Given the description of an element on the screen output the (x, y) to click on. 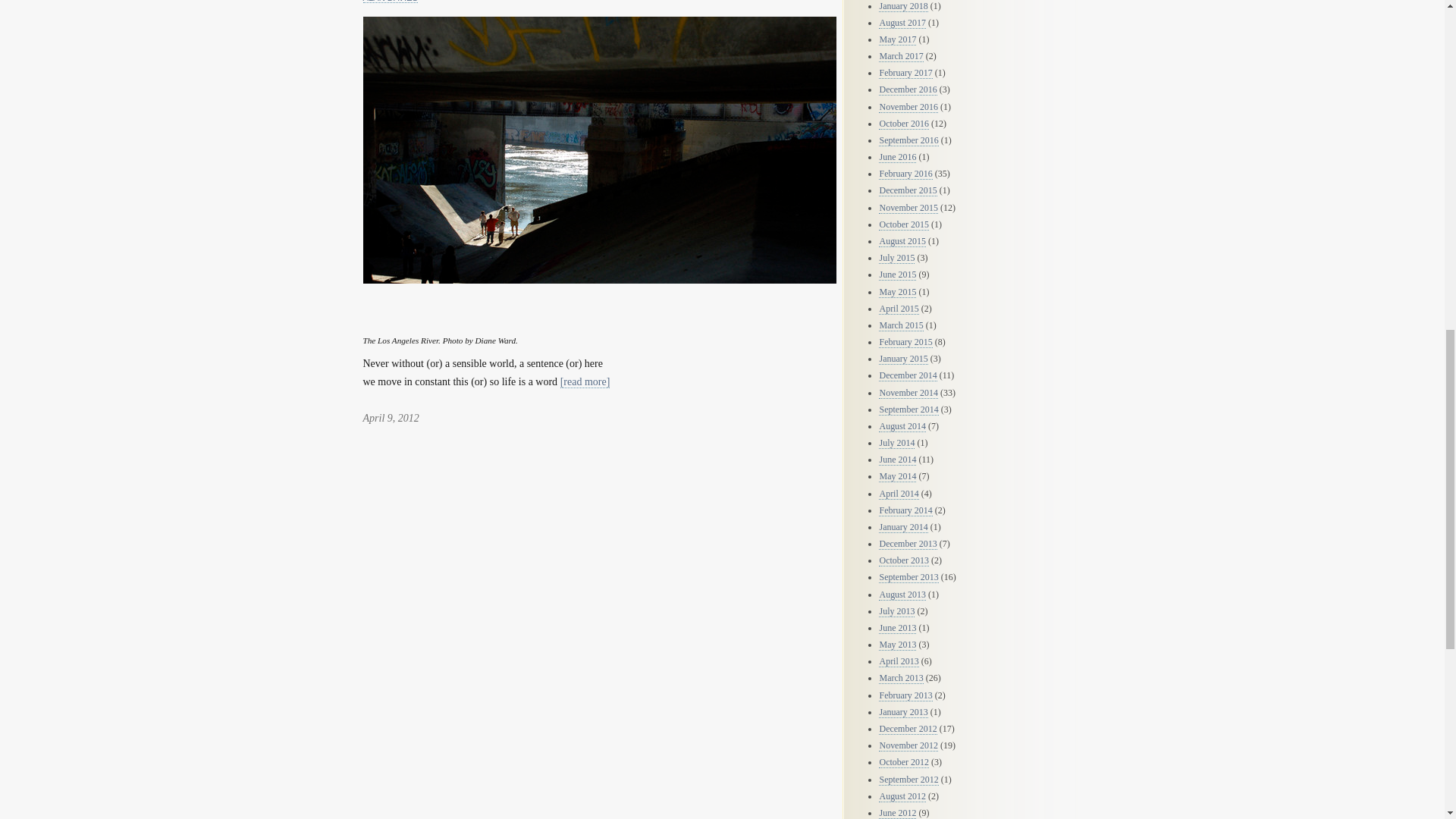
read more (585, 381)
Read the rest of Never without. (585, 381)
ALAN DAVIES (389, 1)
